Given the description of an element on the screen output the (x, y) to click on. 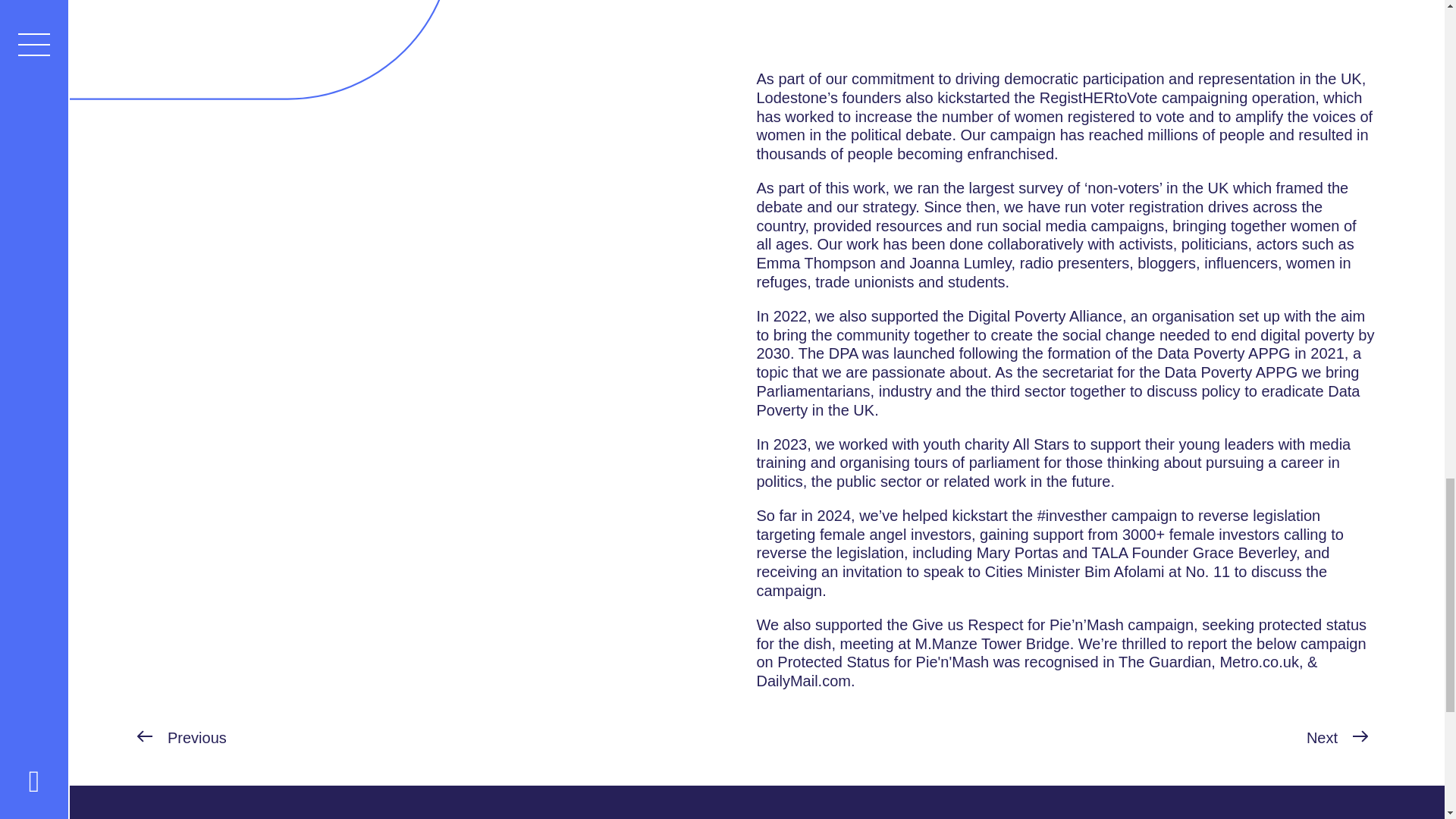
Next (1340, 737)
Previous (181, 737)
